Given the description of an element on the screen output the (x, y) to click on. 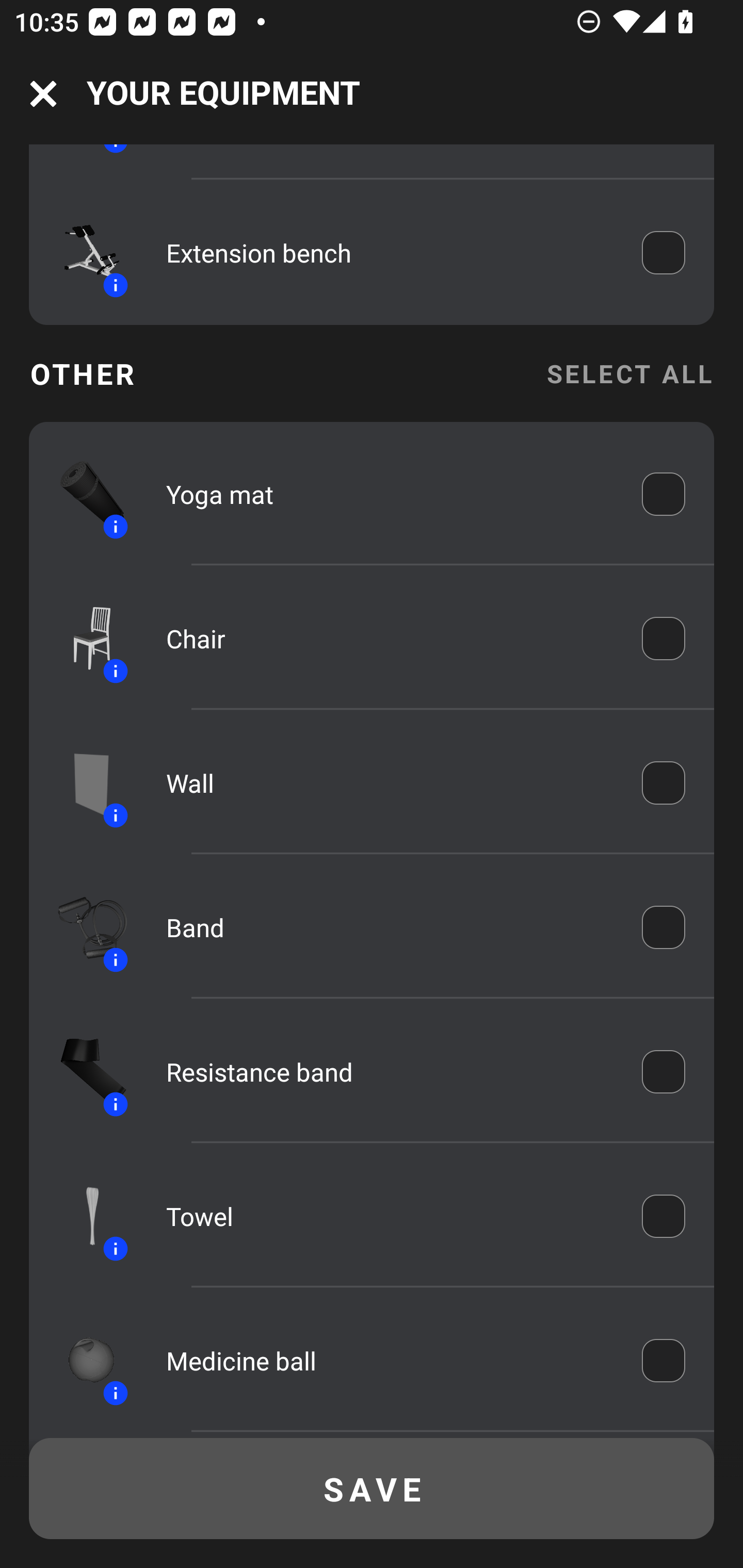
Navigation icon (43, 93)
Equipment icon Information icon (82, 253)
Extension bench (389, 253)
SELECT ALL (629, 373)
Equipment icon Information icon (82, 494)
Yoga mat (389, 494)
Equipment icon Information icon (82, 638)
Chair (389, 638)
Equipment icon Information icon (82, 783)
Wall (389, 783)
Equipment icon Information icon (82, 927)
Band (389, 927)
Equipment icon Information icon (82, 1071)
Resistance band (389, 1071)
Equipment icon Information icon (82, 1215)
Towel (389, 1215)
Equipment icon Information icon (82, 1360)
Medicine ball (389, 1360)
SAVE (371, 1488)
